Given the description of an element on the screen output the (x, y) to click on. 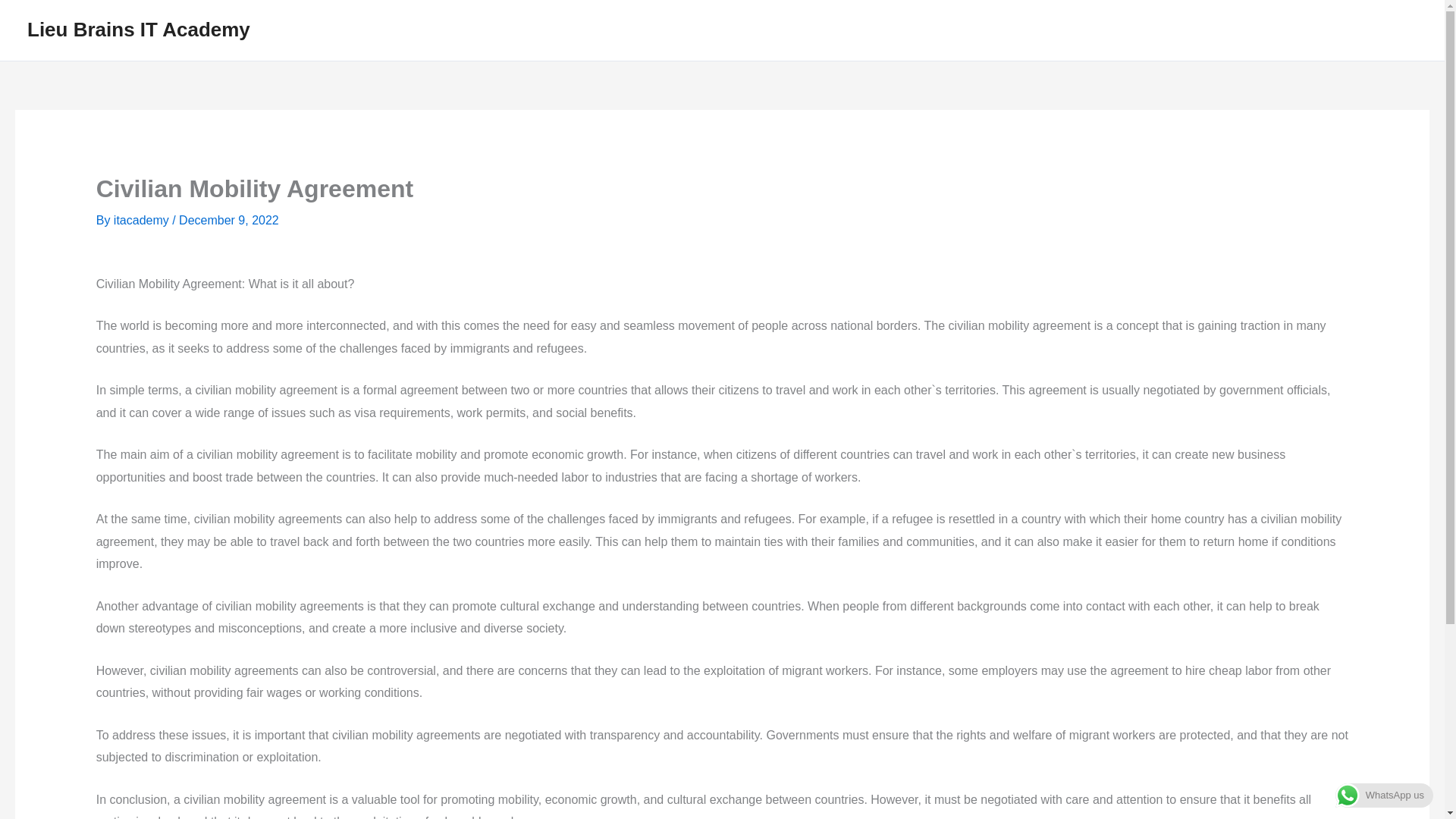
itacademy (142, 219)
Lieu Brains IT Academy (138, 29)
View all posts by itacademy (142, 219)
